Given the description of an element on the screen output the (x, y) to click on. 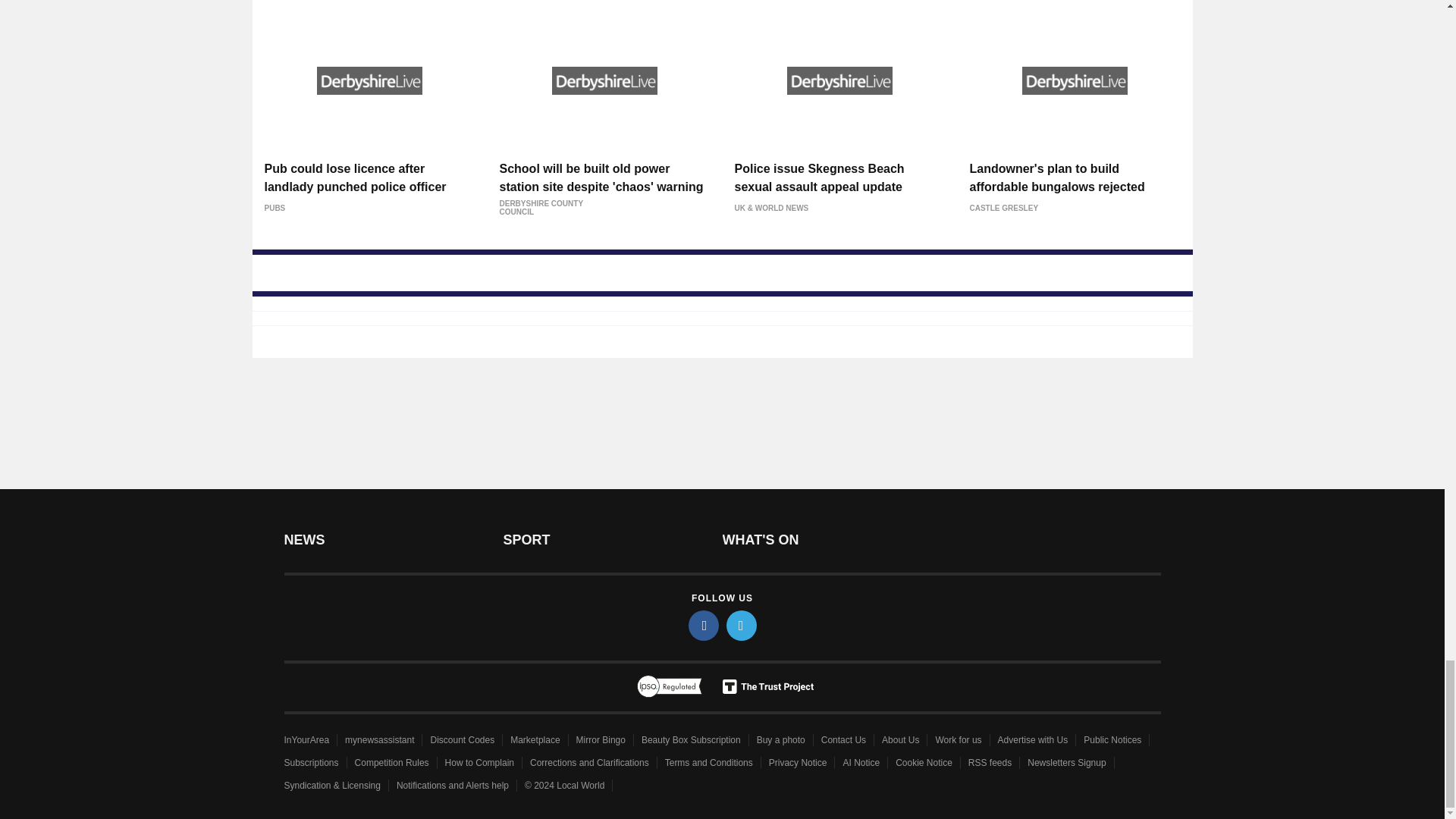
facebook (703, 625)
twitter (741, 625)
